Given the description of an element on the screen output the (x, y) to click on. 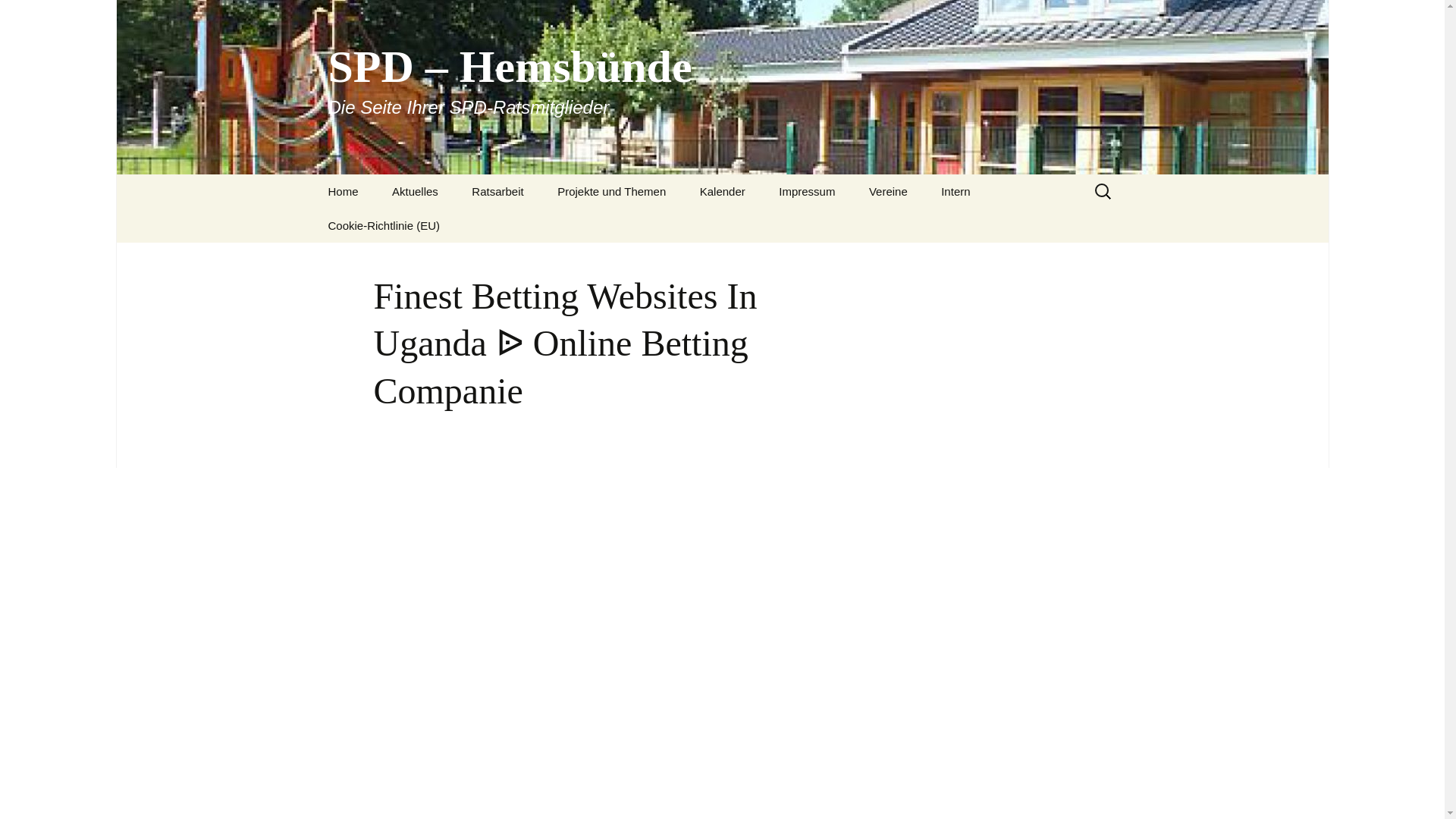
Projekte und Themen (611, 191)
Interne Inhalte (1001, 225)
Intern (955, 191)
Aktuelles (414, 191)
bis 2014 (532, 225)
Impressum (806, 191)
Vereine (888, 191)
Ratsarbeit (497, 191)
Kalender (722, 191)
